Given the description of an element on the screen output the (x, y) to click on. 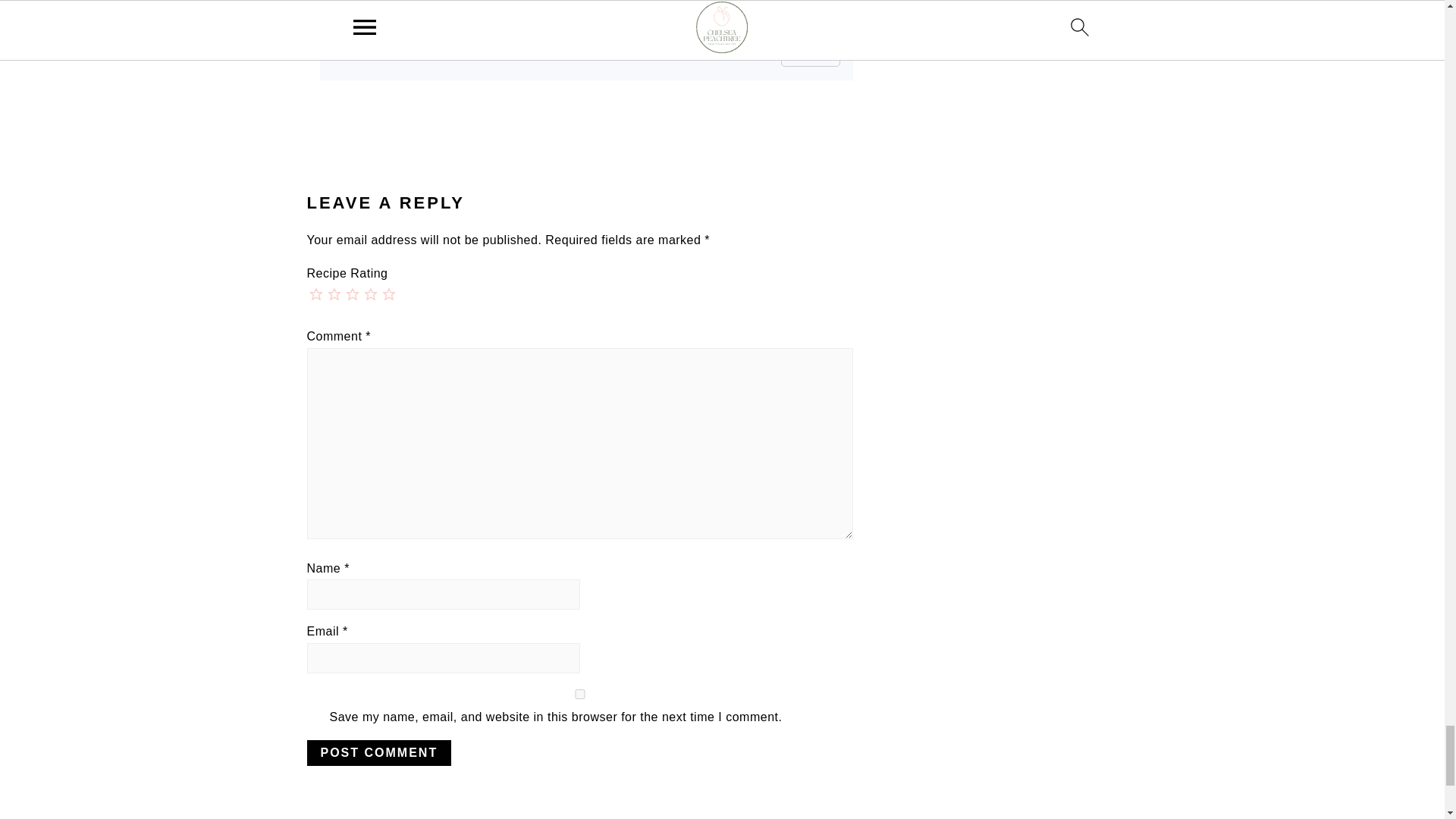
Post Comment (378, 752)
yes (578, 694)
